Given the description of an element on the screen output the (x, y) to click on. 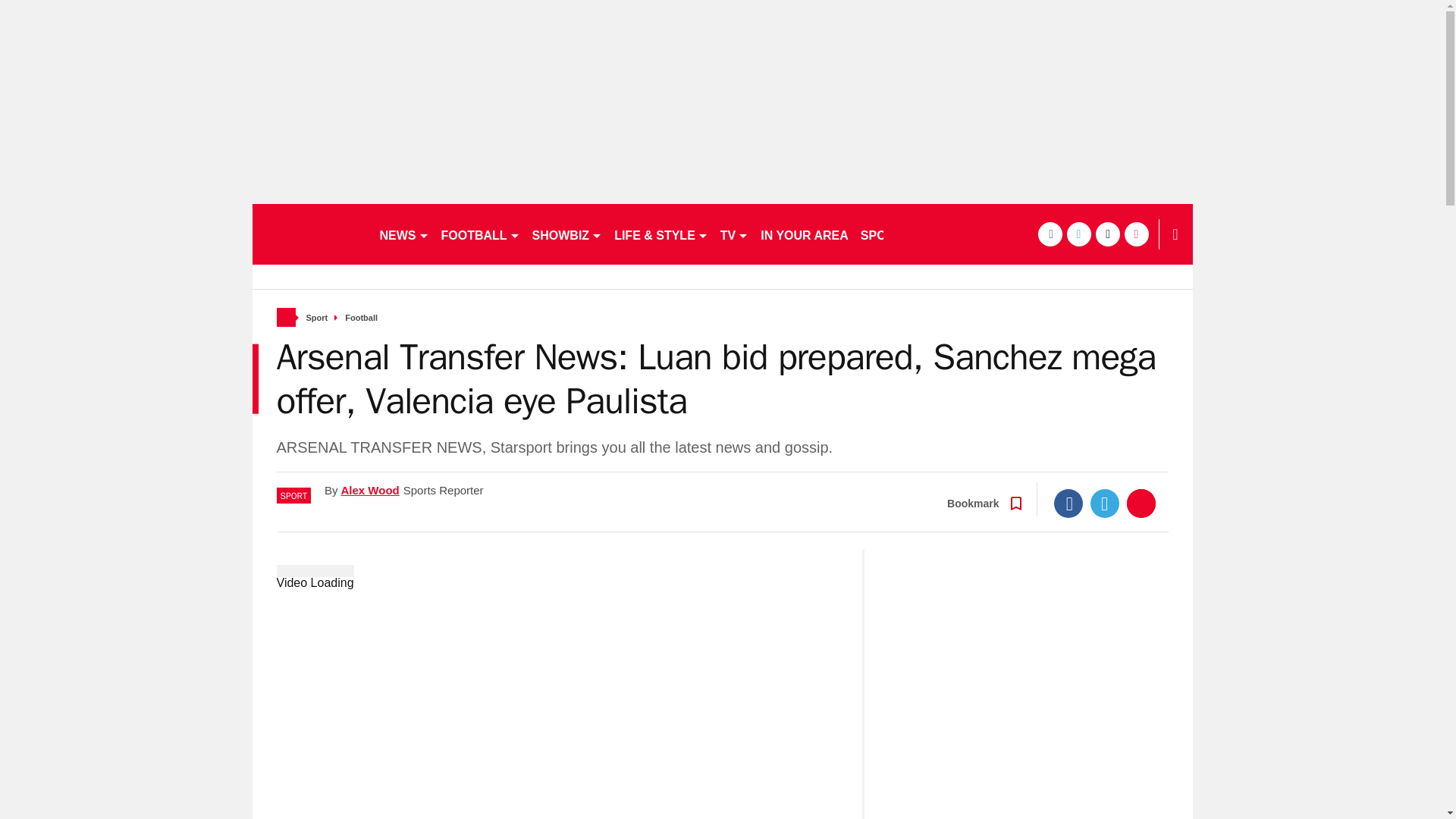
dailystar (308, 233)
Facebook (1068, 502)
Twitter (1104, 502)
twitter (1077, 233)
facebook (1048, 233)
FOOTBALL (480, 233)
tiktok (1106, 233)
instagram (1136, 233)
SHOWBIZ (566, 233)
NEWS (402, 233)
